Given the description of an element on the screen output the (x, y) to click on. 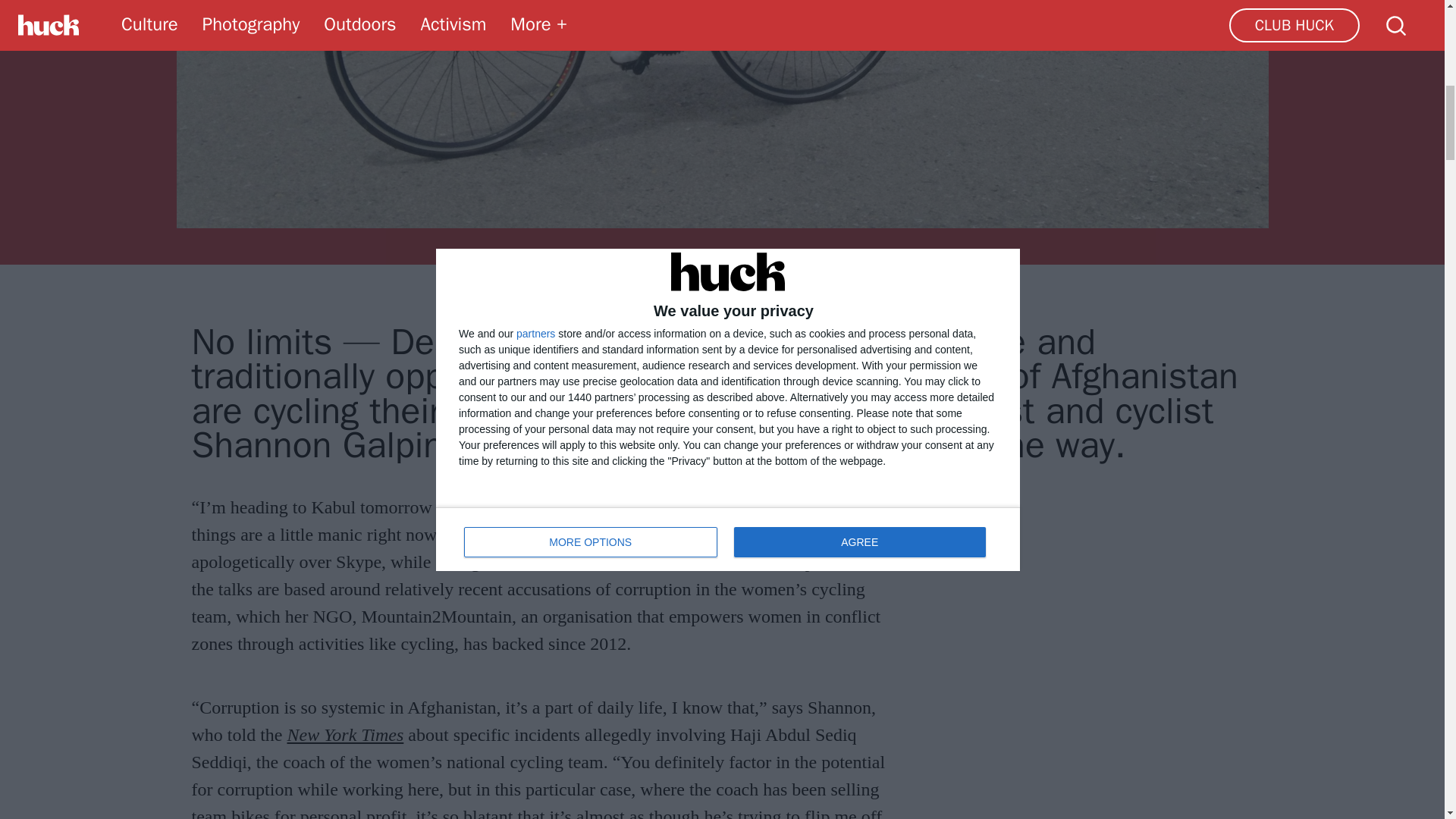
Page 1 (544, 575)
New York Times (344, 734)
